Given the description of an element on the screen output the (x, y) to click on. 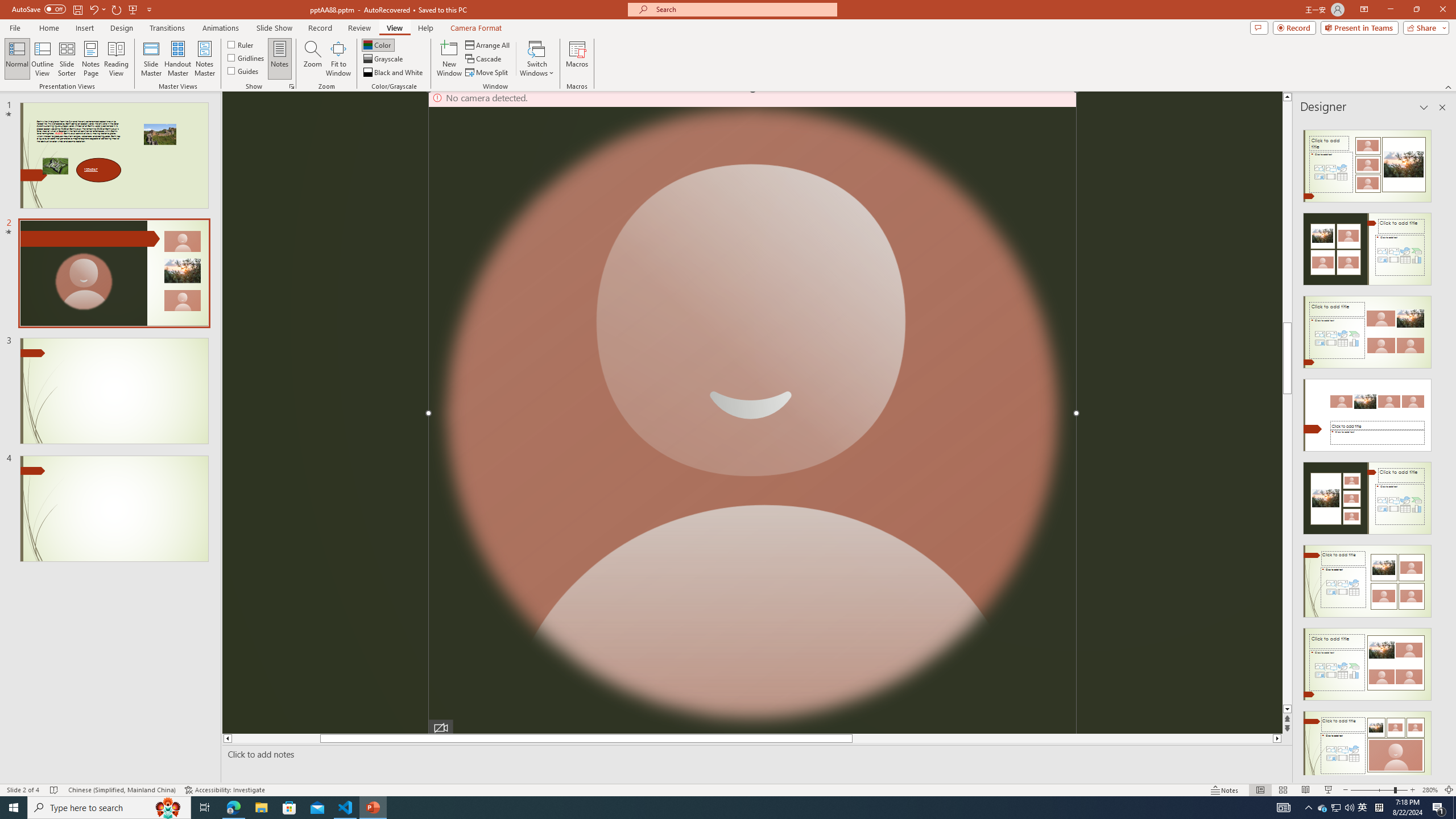
Page down (1287, 570)
View (395, 28)
Minimize (1390, 9)
Zoom Out (1372, 790)
AutoSave (38, 9)
Color (377, 44)
Task Pane Options (1423, 107)
Notes Page (90, 58)
Gridlines (246, 56)
Move Split (487, 72)
Spell Check No Errors (54, 790)
